Given the description of an element on the screen output the (x, y) to click on. 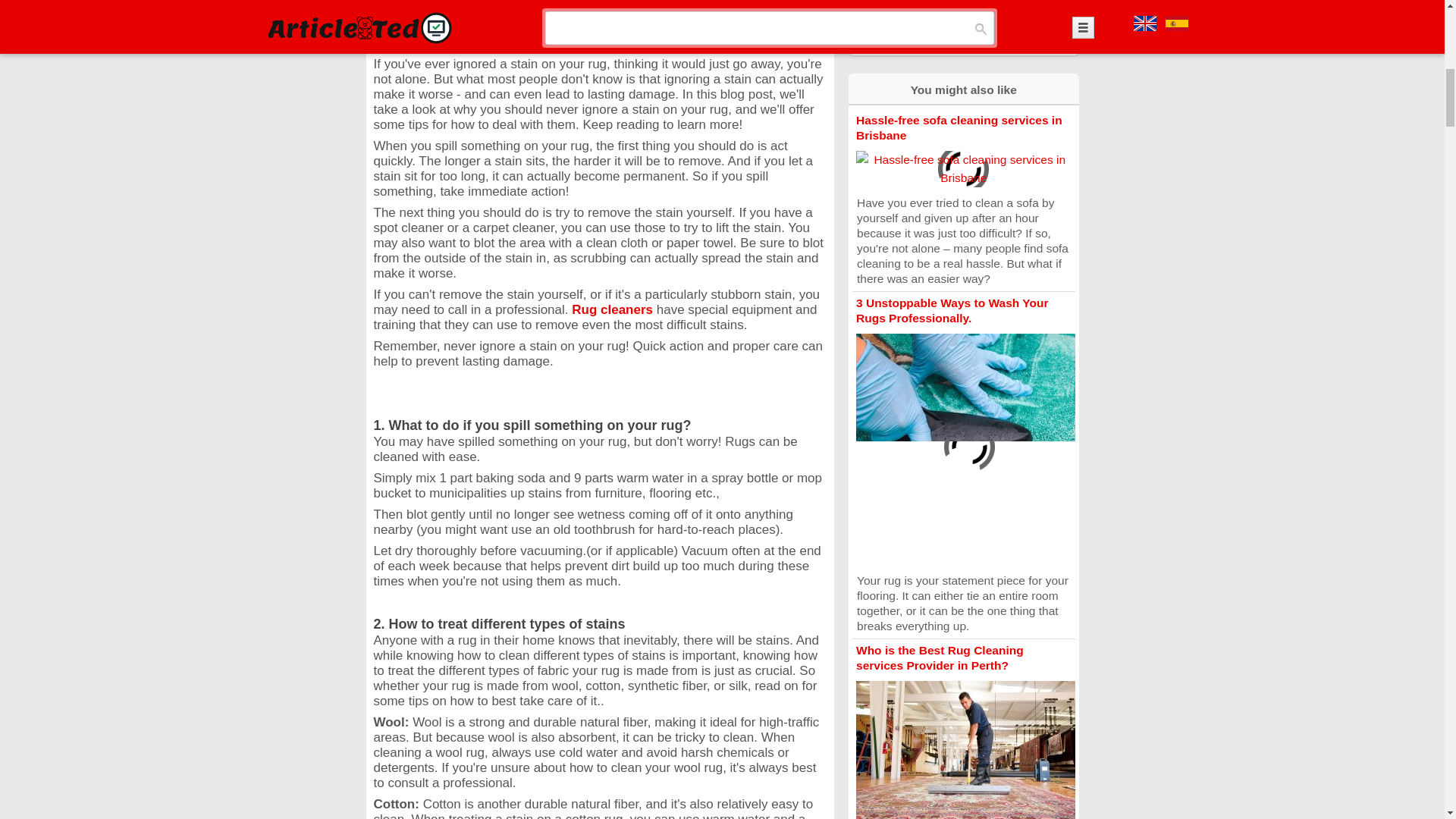
Rug cleaners (614, 309)
3 Unstoppable Ways to Wash Your Rugs Professionally. (952, 310)
Who is the Best Rug Cleaning services Provider in Perth? (939, 657)
Hassle-free sofa cleaning services in Brisbane (959, 127)
